Given the description of an element on the screen output the (x, y) to click on. 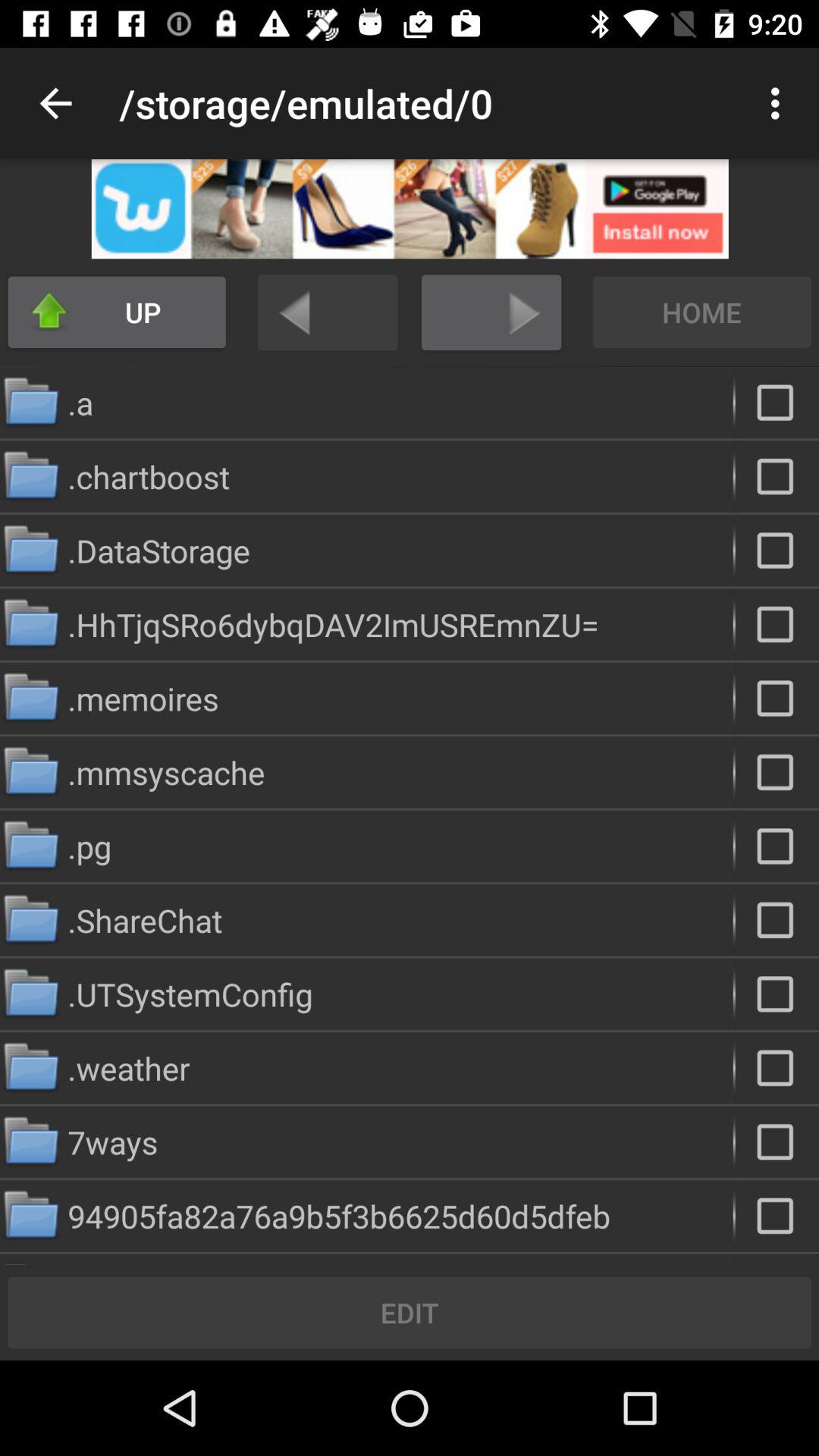
select folder (777, 846)
